Given the description of an element on the screen output the (x, y) to click on. 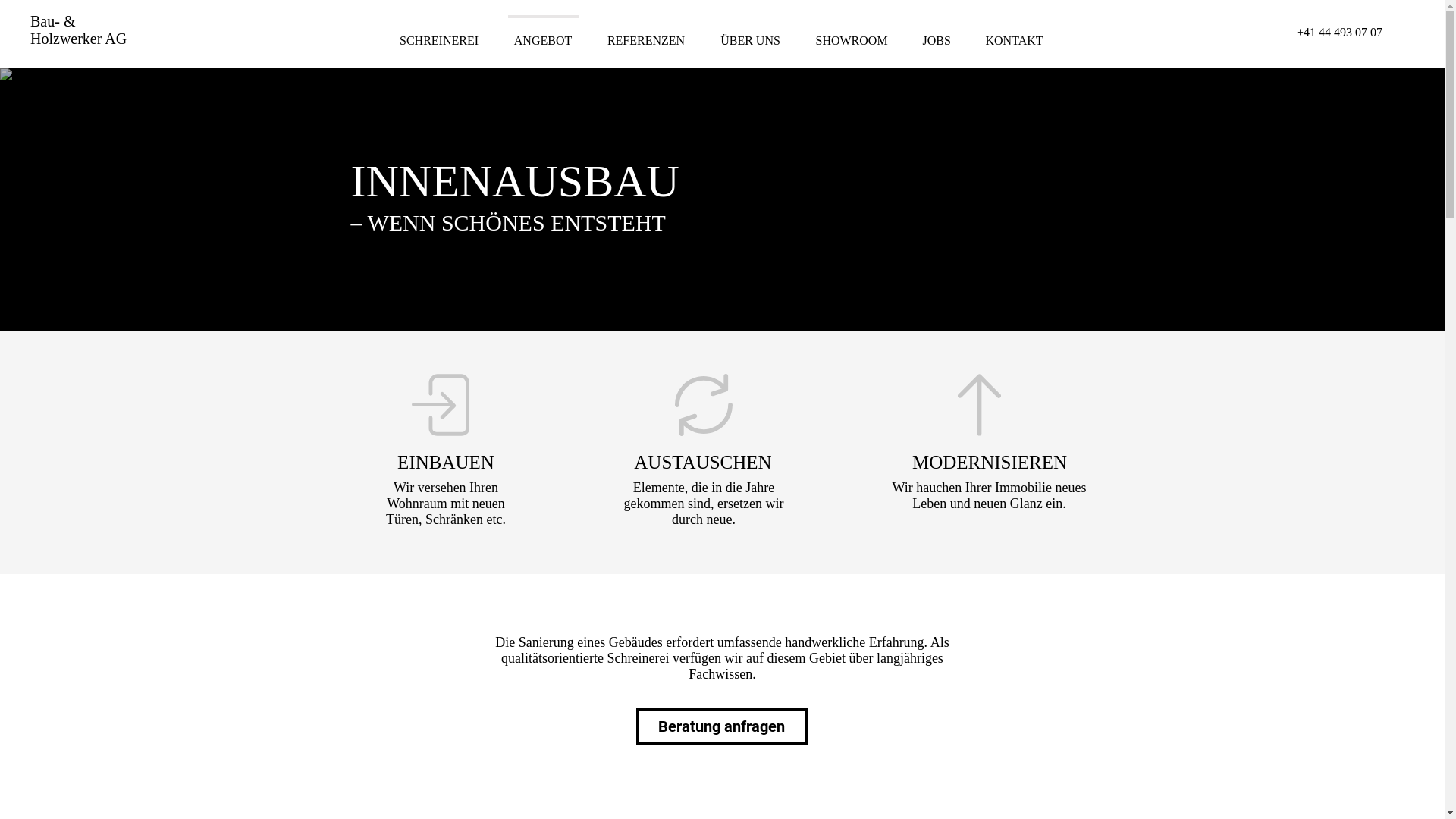
SHOWROOM Element type: text (850, 34)
Beratung anfragen Element type: text (720, 726)
KONTAKT Element type: text (1013, 34)
REFERENZEN Element type: text (645, 34)
Bau- & Element type: text (52, 20)
ANGEBOT Element type: text (542, 34)
SCHREINEREI Element type: text (439, 34)
+41 44 493 07 07 Element type: text (1339, 31)
Holzwerker AG Element type: text (78, 38)
